Given the description of an element on the screen output the (x, y) to click on. 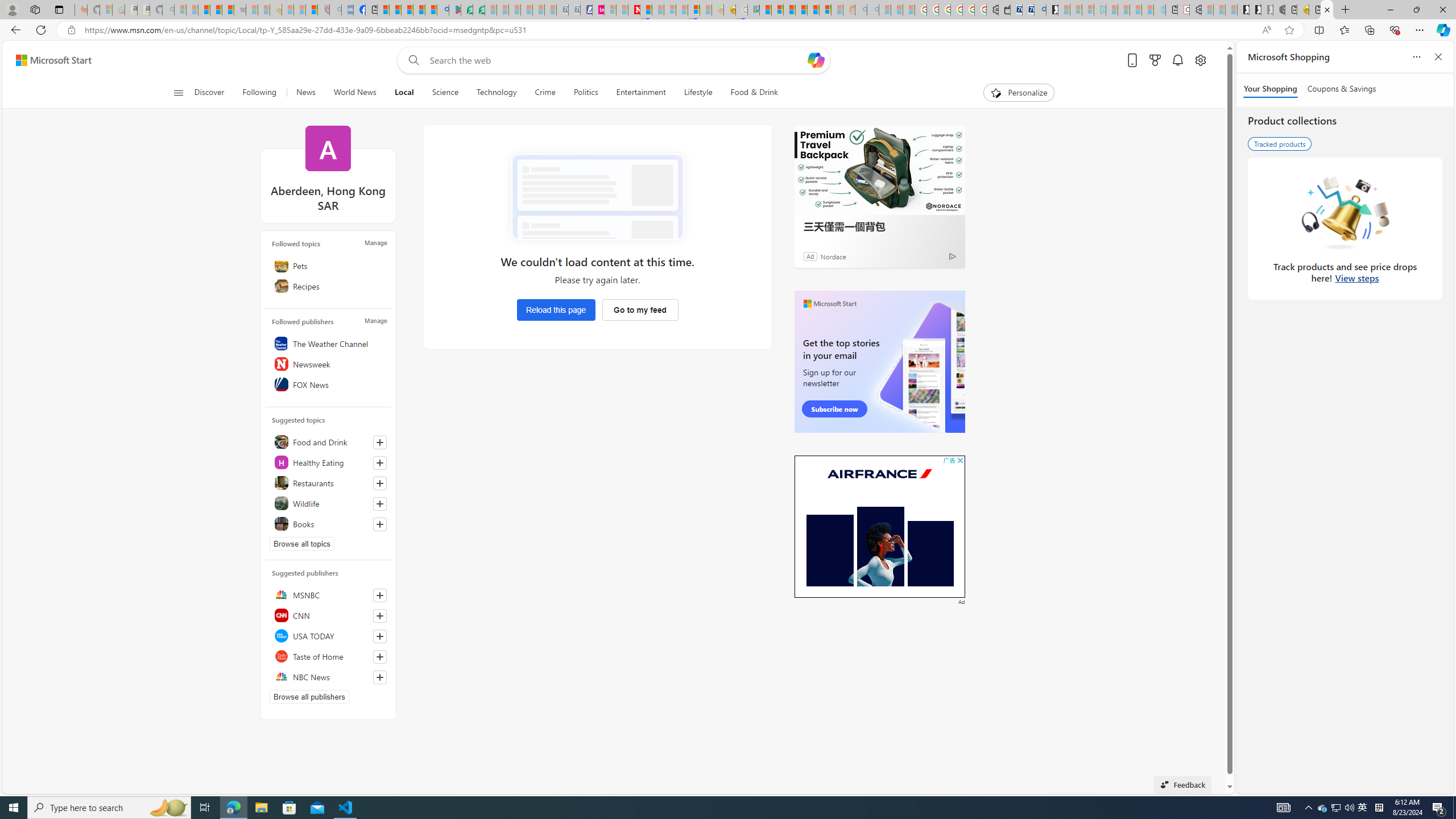
Technology (496, 92)
Microsoft account | Privacy - Sleeping (1088, 9)
Open navigation menu (177, 92)
Local - MSN (1327, 9)
Science (444, 92)
